Given the description of an element on the screen output the (x, y) to click on. 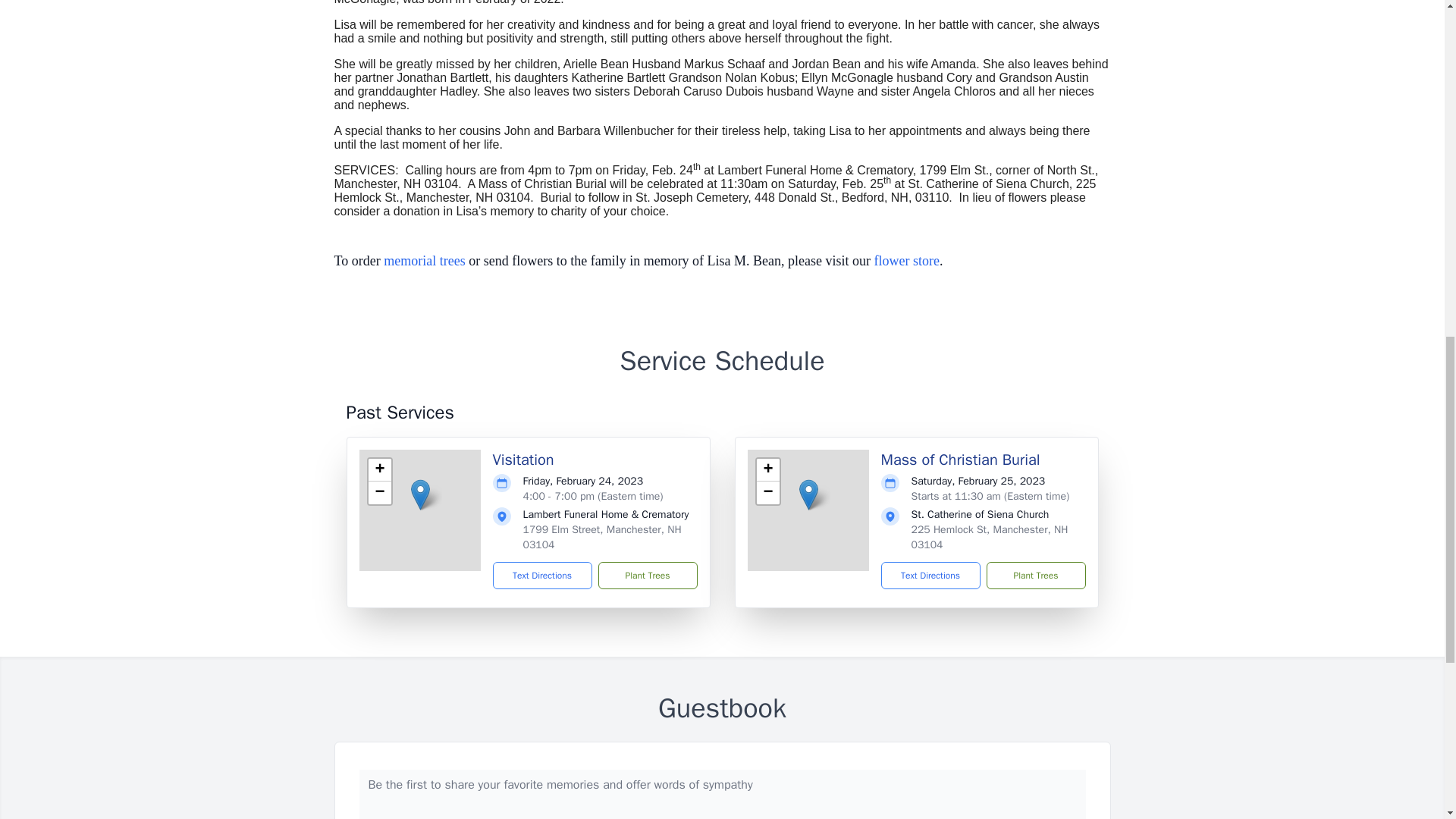
225 Hemlock St, Manchester, NH 03104 (989, 537)
Plant Trees (1034, 574)
Plant Trees (646, 574)
1799 Elm Street, Manchester, NH 03104 (601, 537)
Zoom in (379, 469)
Text Directions (929, 574)
Zoom out (379, 492)
Zoom in (767, 469)
memorial trees (424, 260)
Text Directions (542, 574)
flower store (907, 260)
Zoom out (767, 492)
